Given the description of an element on the screen output the (x, y) to click on. 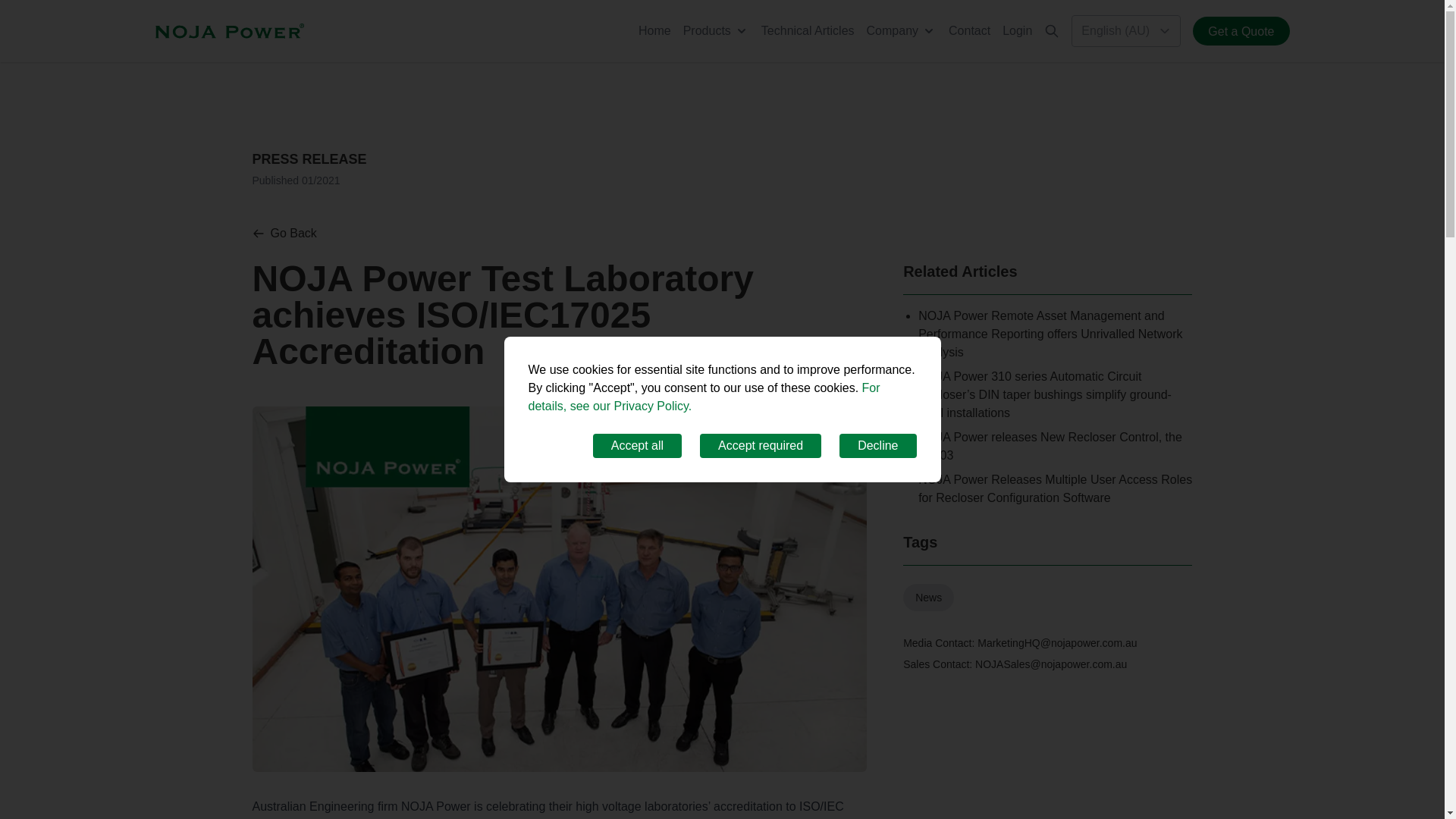
Technical Articles (807, 30)
Home (655, 30)
Search site (1051, 30)
NOJA Power releases New Recloser Control, the RC-03 (1050, 445)
Go Back (283, 233)
Accept required (760, 445)
Company (901, 31)
Get a Quote (1240, 30)
Login (1017, 31)
Decline (877, 445)
For details, see our Privacy Policy. (703, 396)
Products (715, 31)
Contact (969, 30)
News (927, 596)
